Given the description of an element on the screen output the (x, y) to click on. 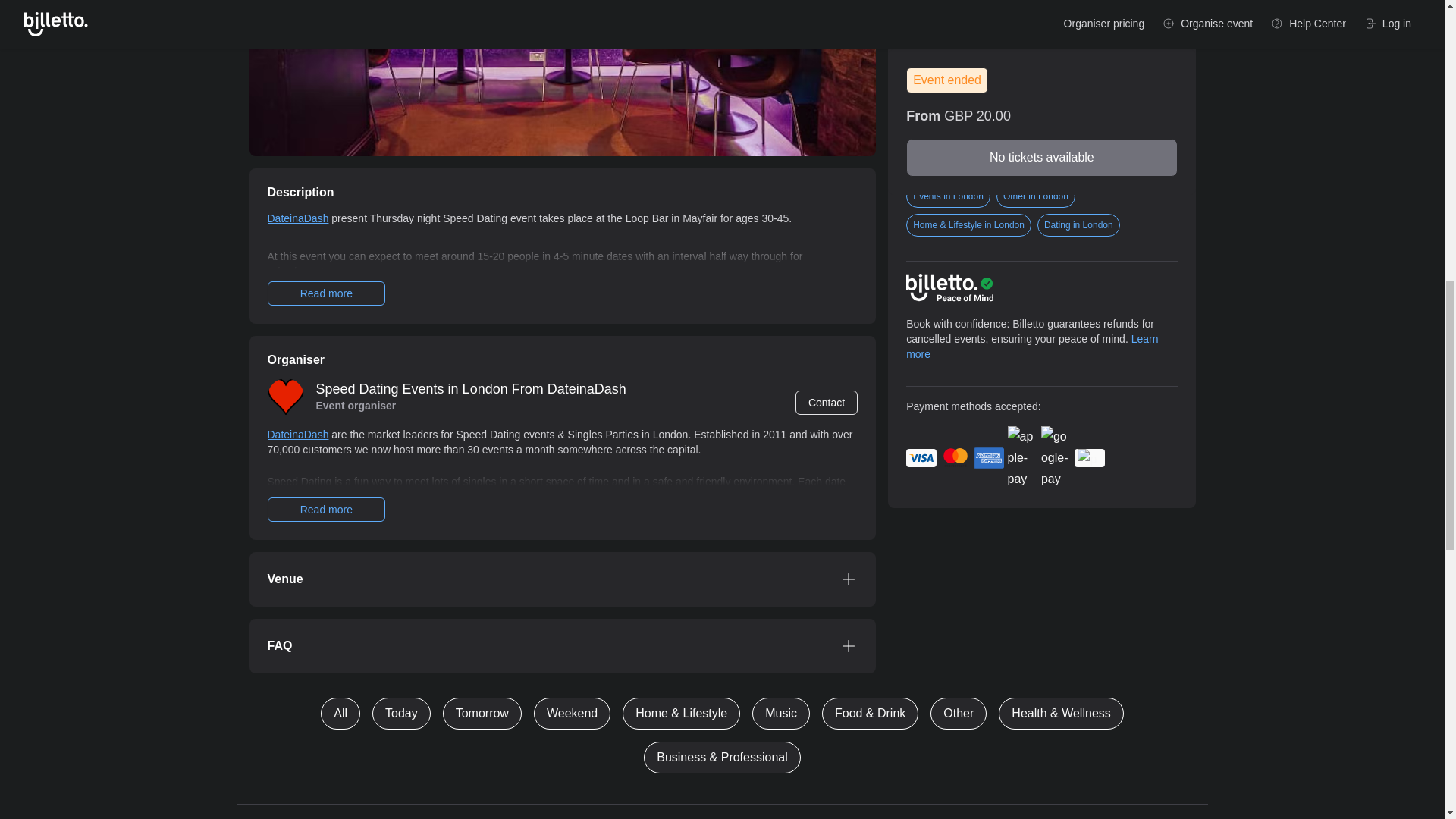
Contact (825, 402)
Read more (325, 509)
Read more (325, 293)
DateinaDash (297, 434)
DateinaDash (297, 218)
translation missing: en.event.form.details.tags (917, 166)
